Given the description of an element on the screen output the (x, y) to click on. 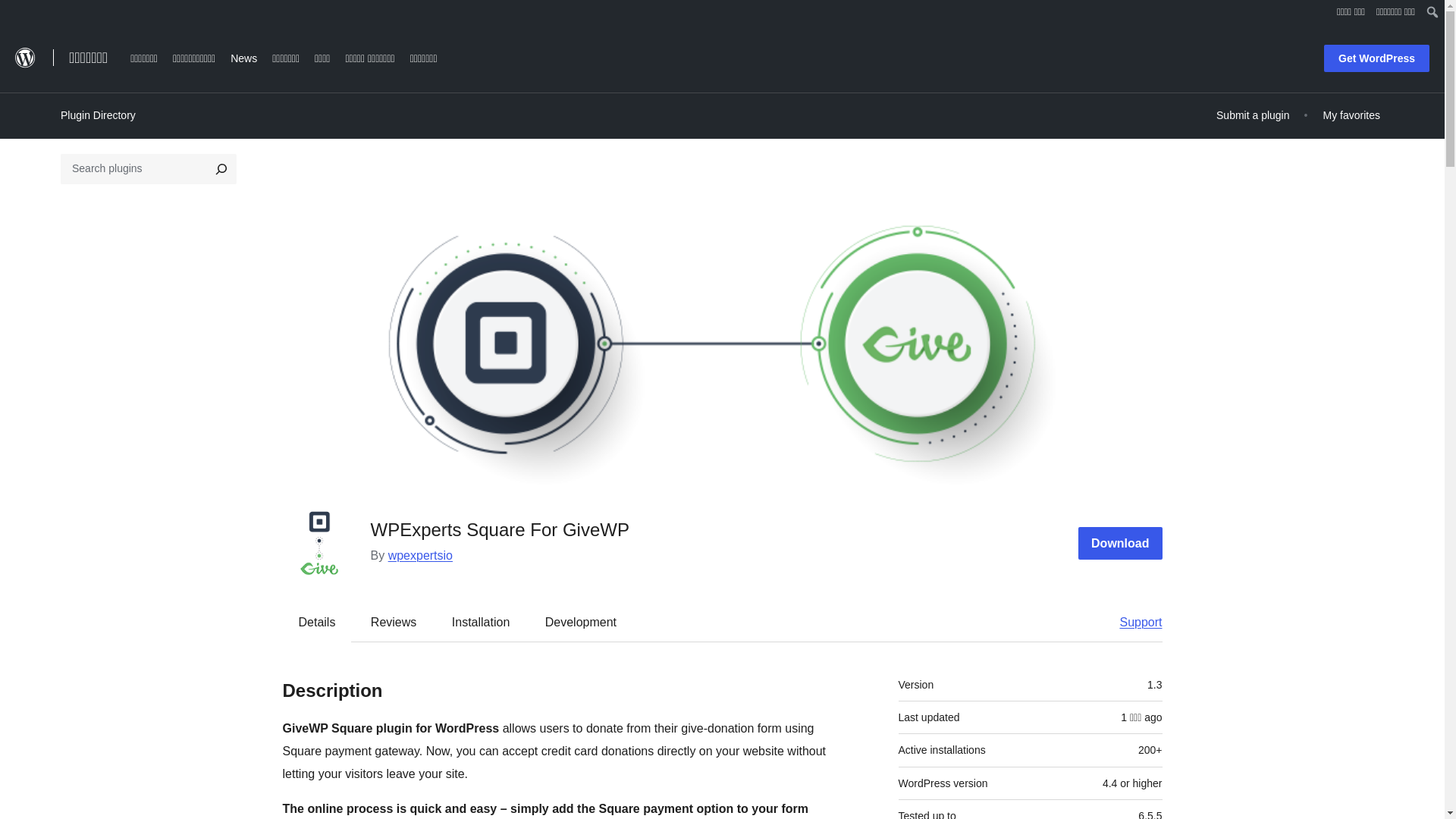
wpexpertsio (420, 554)
Reviews (392, 622)
Installation (480, 622)
Support (1132, 622)
My favorites (1351, 115)
Submit a plugin (1253, 115)
Download (1119, 543)
Plugin Directory (97, 115)
Details (316, 622)
Development (580, 622)
Get WordPress (1376, 58)
